Given the description of an element on the screen output the (x, y) to click on. 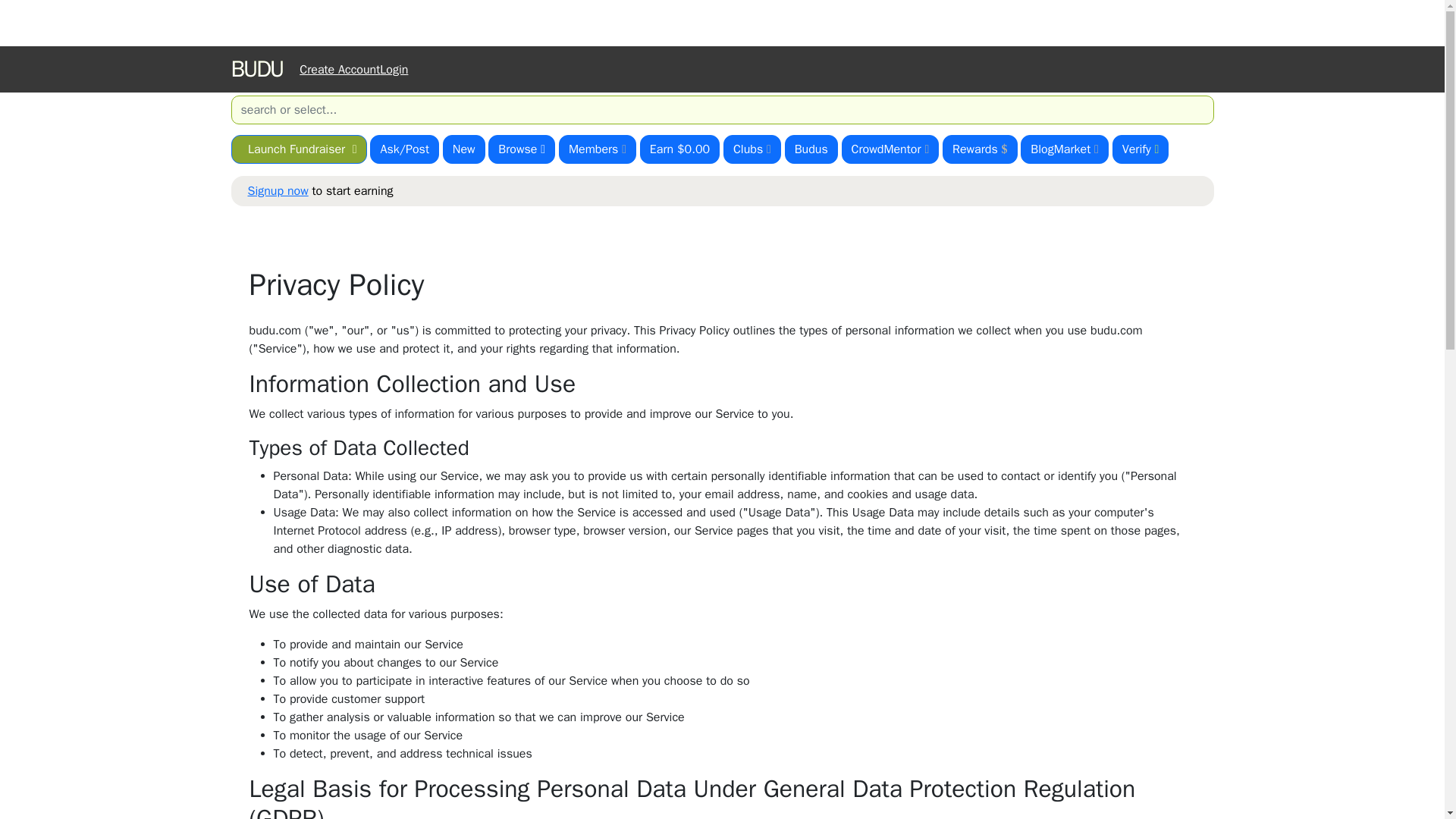
  Launch Fundraiser   (298, 149)
CrowdMentor (890, 149)
Clubs (751, 149)
Budus (811, 149)
New (463, 149)
BlogMarket (1064, 149)
Login (393, 69)
BUDU (262, 69)
Create Account (339, 69)
Verify  (1140, 149)
Browse (520, 149)
Signup now (277, 191)
Rewards (979, 149)
Members (597, 149)
